Given the description of an element on the screen output the (x, y) to click on. 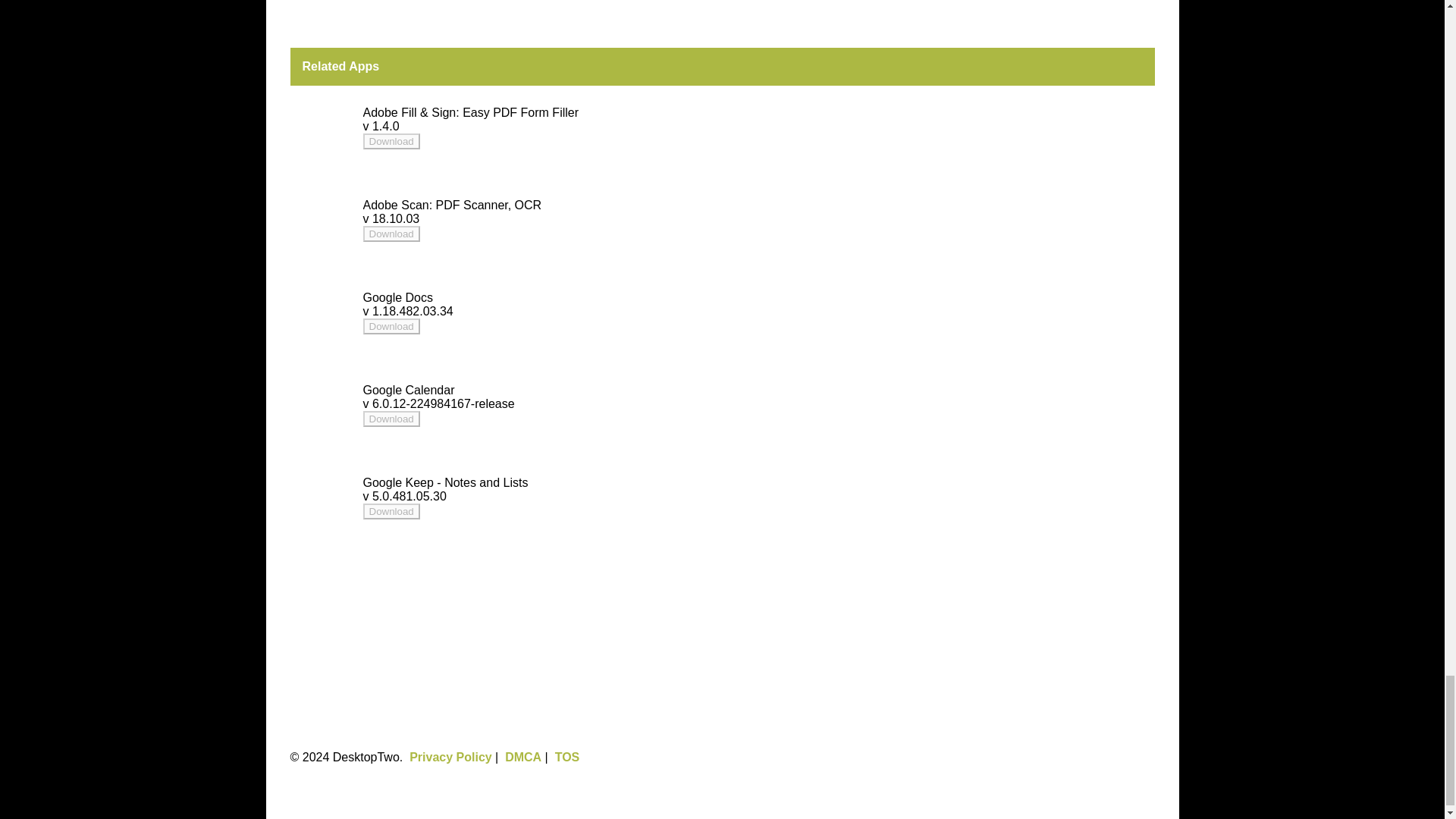
Privacy Policy (450, 757)
Adobe Acrobat Reader for PC (390, 418)
Google Docs for PC (397, 297)
TOS (566, 757)
Download (390, 418)
Download (390, 325)
Adobe Scan: PDF Scanner, OCR for PC (451, 205)
Adobe Acrobat Reader for PC (390, 232)
Google Calendar for PC (408, 390)
Download (390, 326)
